Given the description of an element on the screen output the (x, y) to click on. 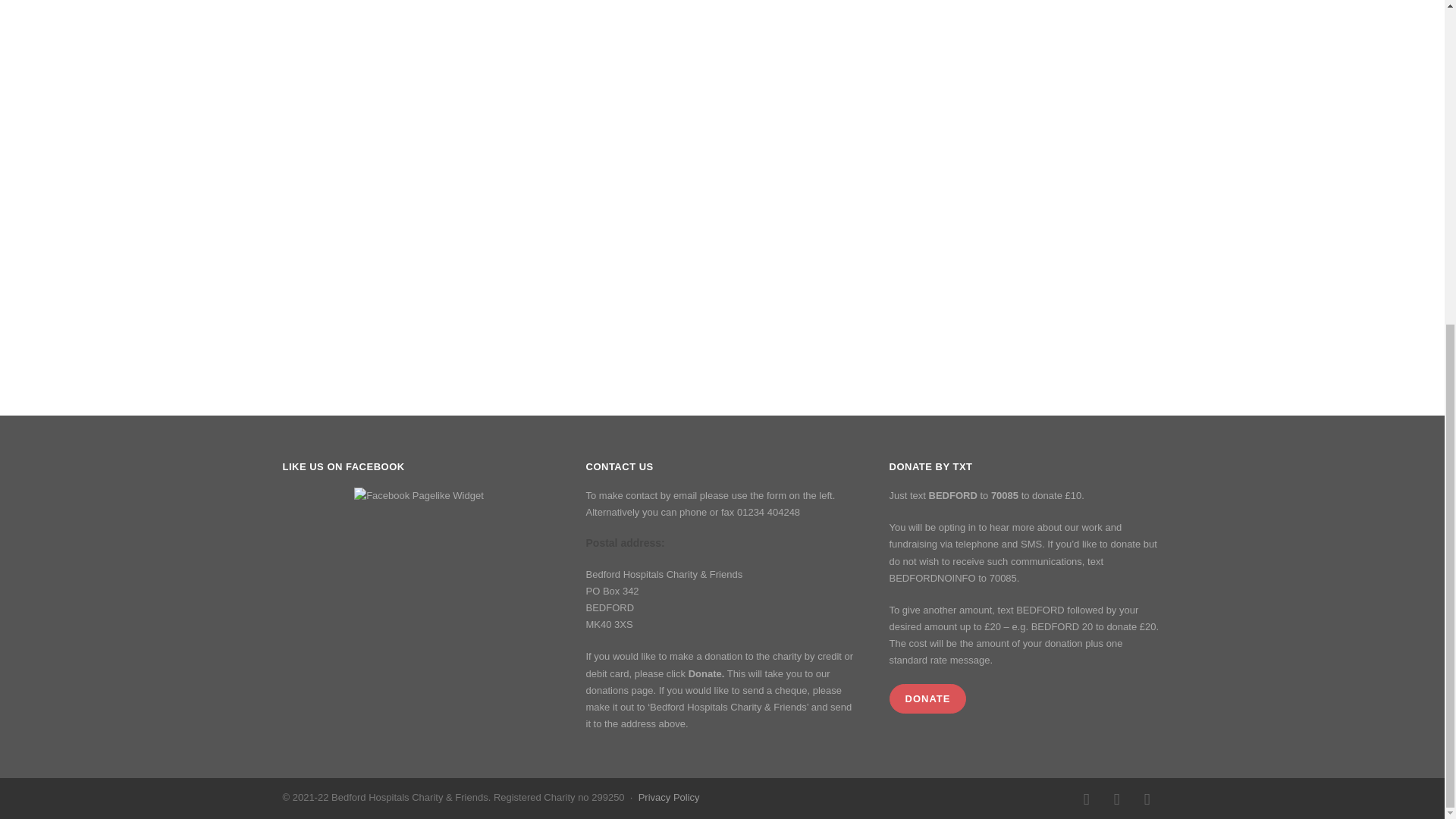
Facebook (1085, 798)
Twitter (1146, 798)
Instagram (1115, 798)
